Given the description of an element on the screen output the (x, y) to click on. 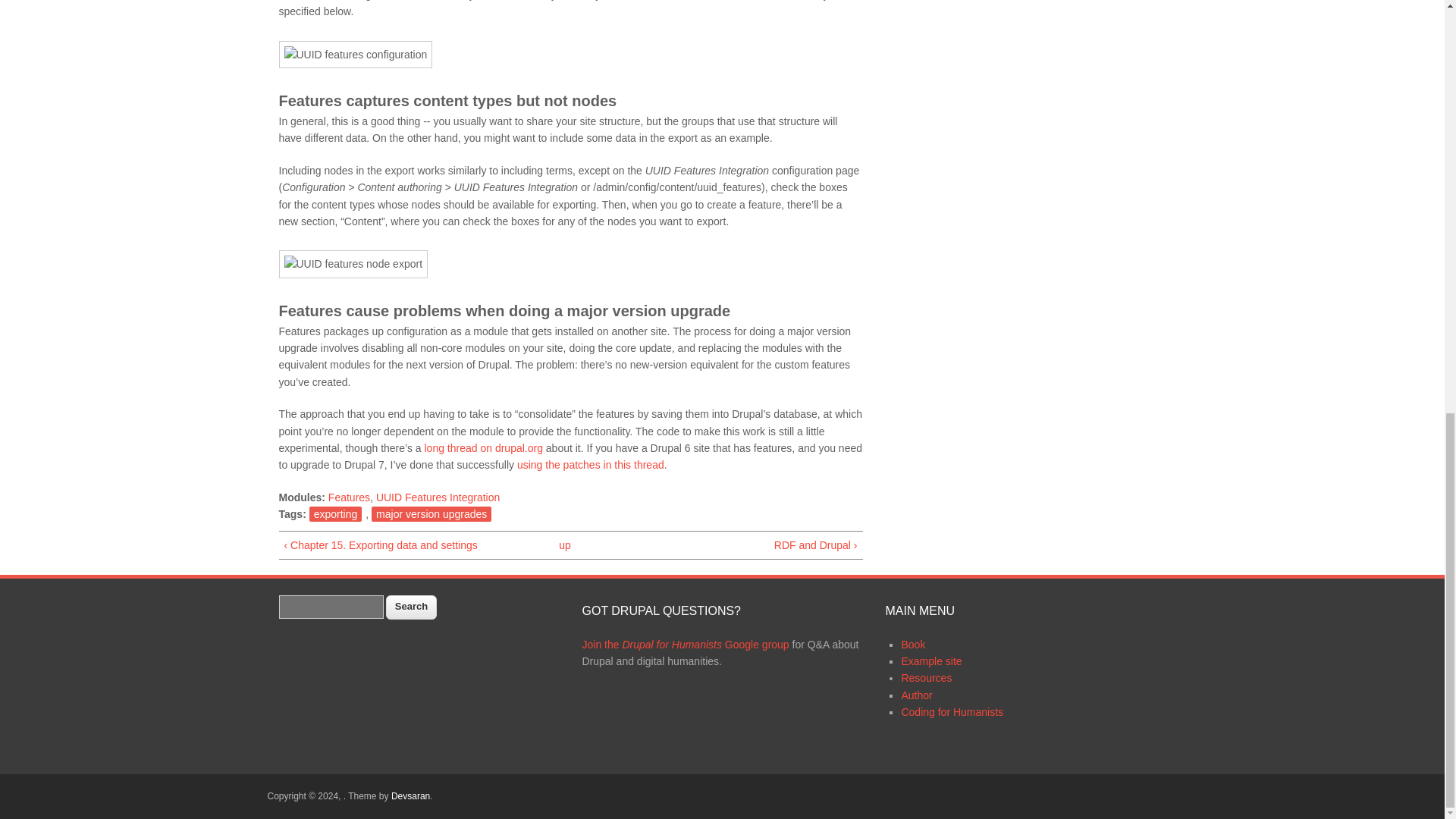
UUID Features Integration (437, 497)
Enter the terms you wish to search for. (331, 607)
up (564, 545)
Features (349, 497)
Go to parent page (564, 545)
Go to next page (736, 545)
exporting (335, 513)
Go to previous page (403, 545)
Search (410, 607)
using the patches in this thread (589, 464)
